Given the description of an element on the screen output the (x, y) to click on. 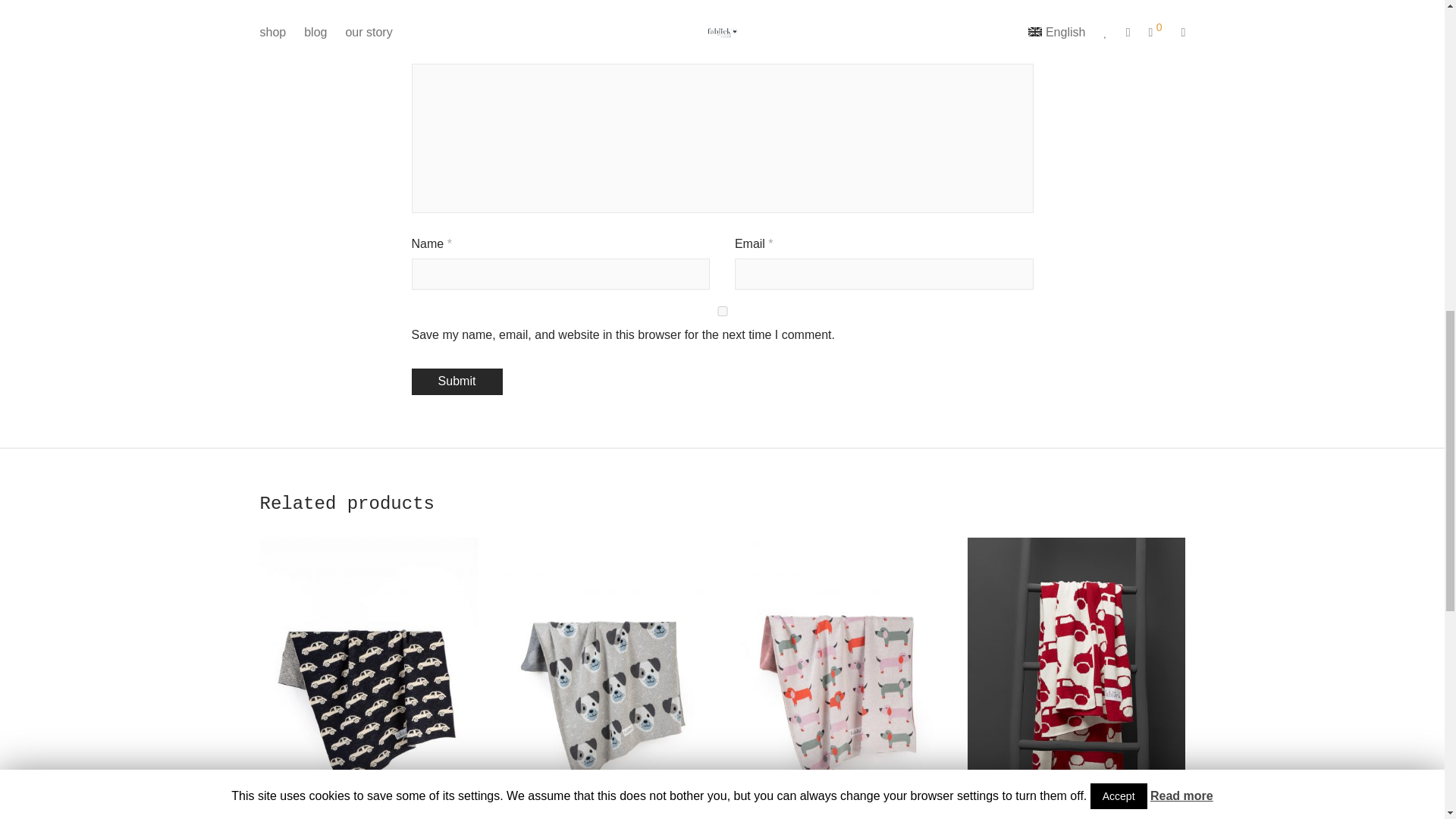
Submit (456, 381)
yes (721, 311)
